Given the description of an element on the screen output the (x, y) to click on. 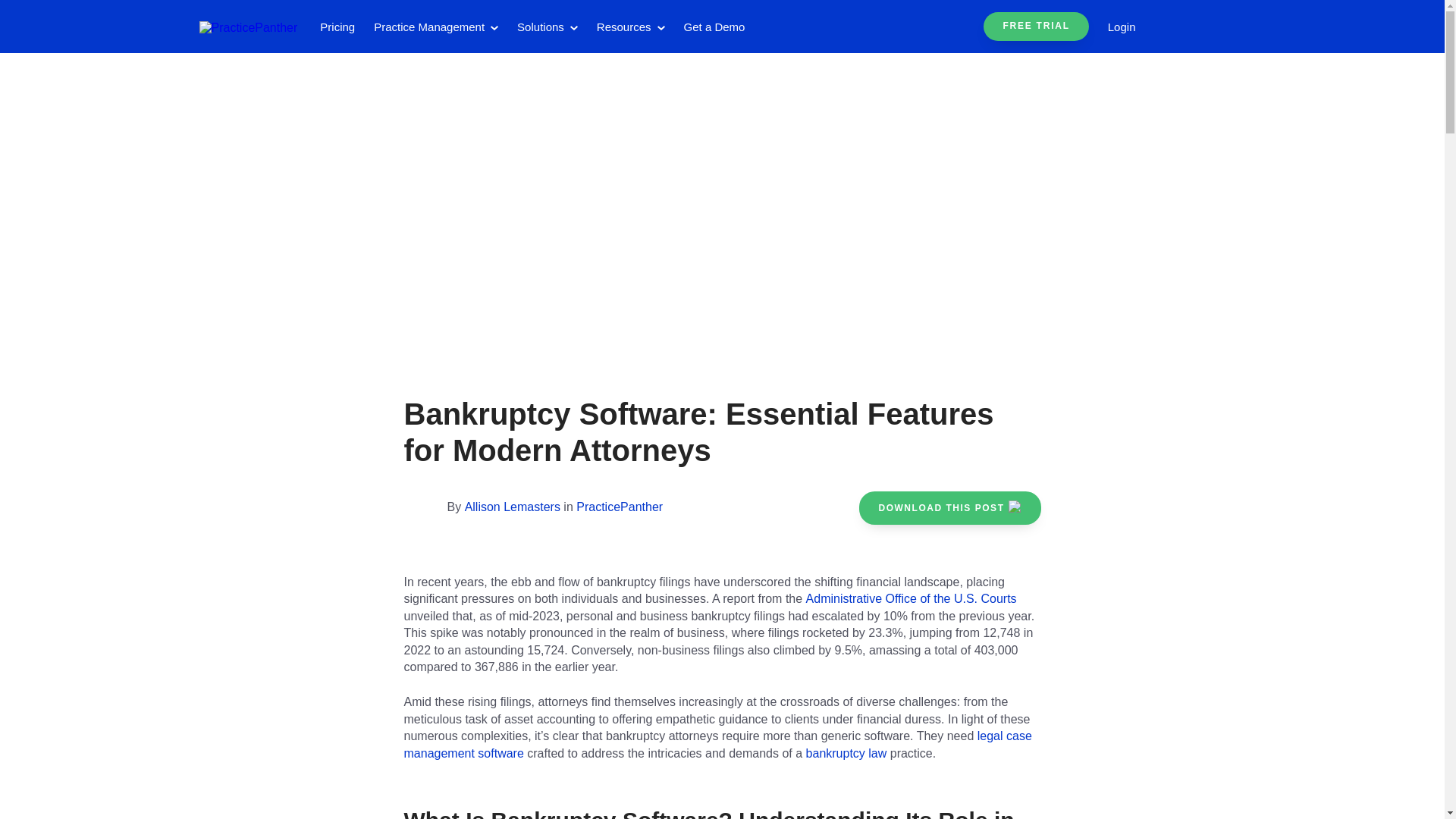
Solutions (547, 26)
Get a Demo (714, 26)
Practice Management (435, 26)
Resources (630, 26)
Pricing (337, 26)
Download PDF (950, 507)
FREE TRIAL (1035, 26)
Login (1121, 26)
